Given the description of an element on the screen output the (x, y) to click on. 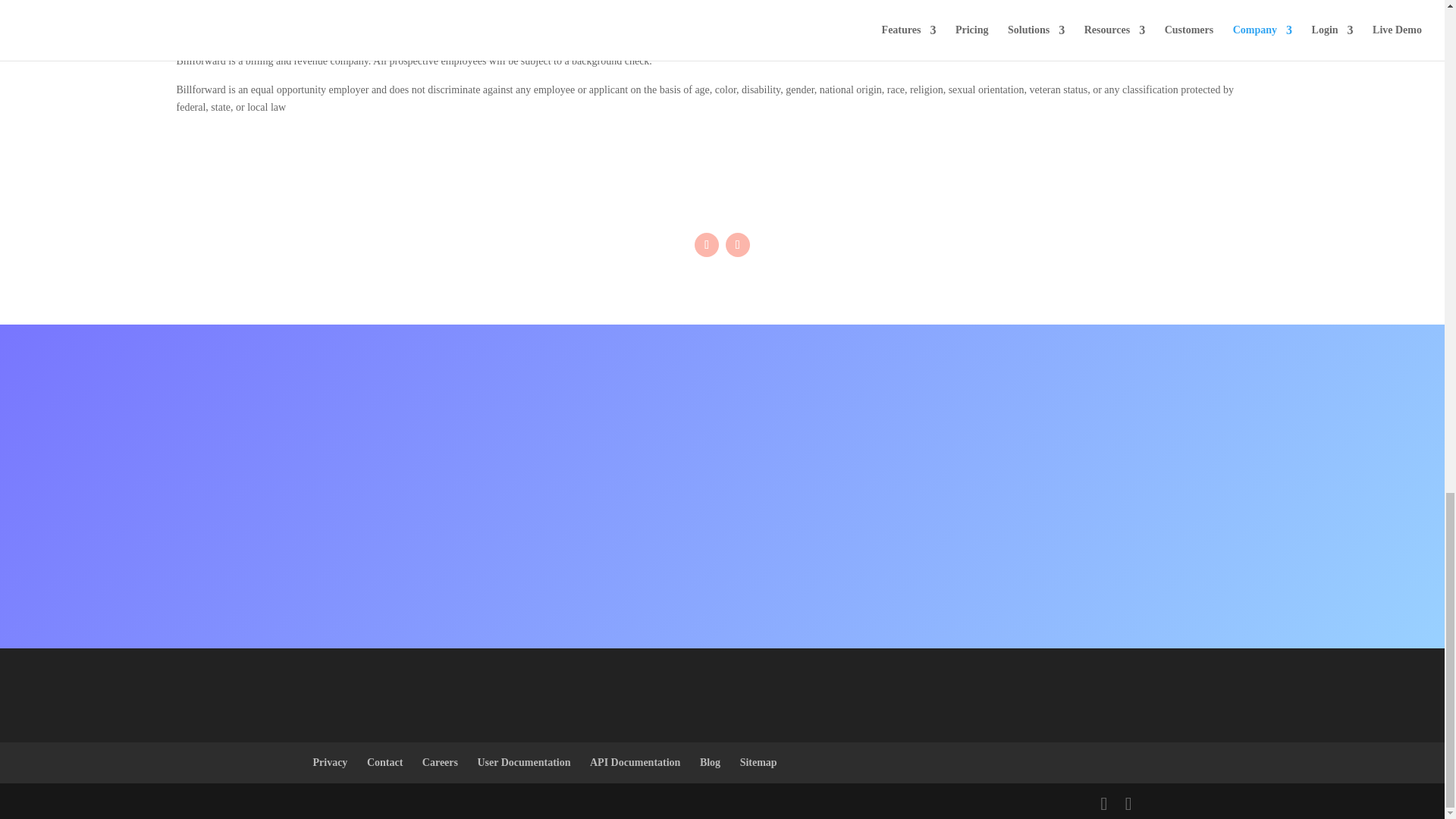
Follow on linkedin (737, 244)
Follow on twitter (706, 244)
